Given the description of an element on the screen output the (x, y) to click on. 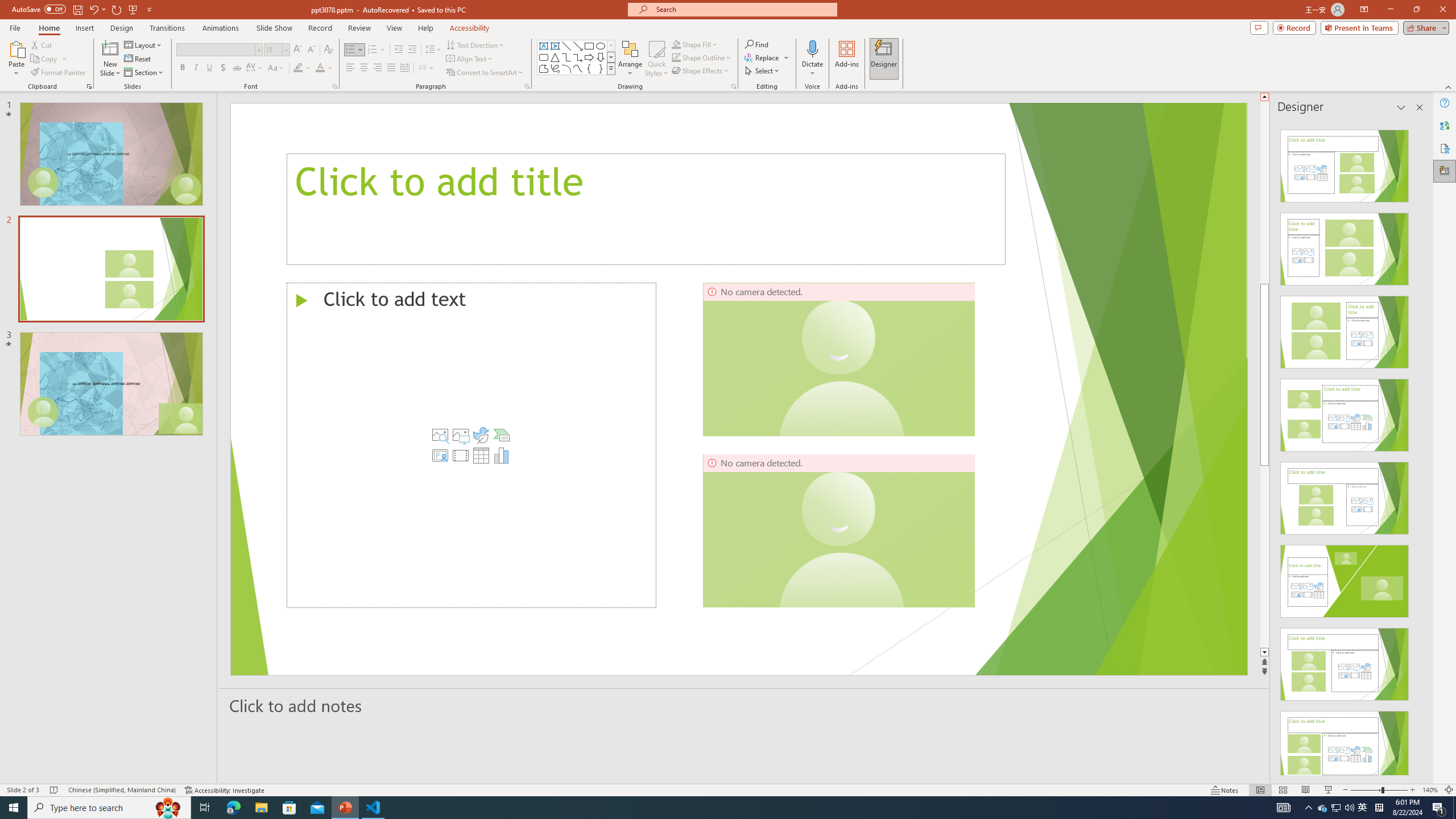
Reset (138, 58)
Underline (209, 67)
Line Spacing (433, 49)
Format Painter (58, 72)
Arc (566, 68)
Left Brace (589, 68)
Change Case (276, 67)
